Given the description of an element on the screen output the (x, y) to click on. 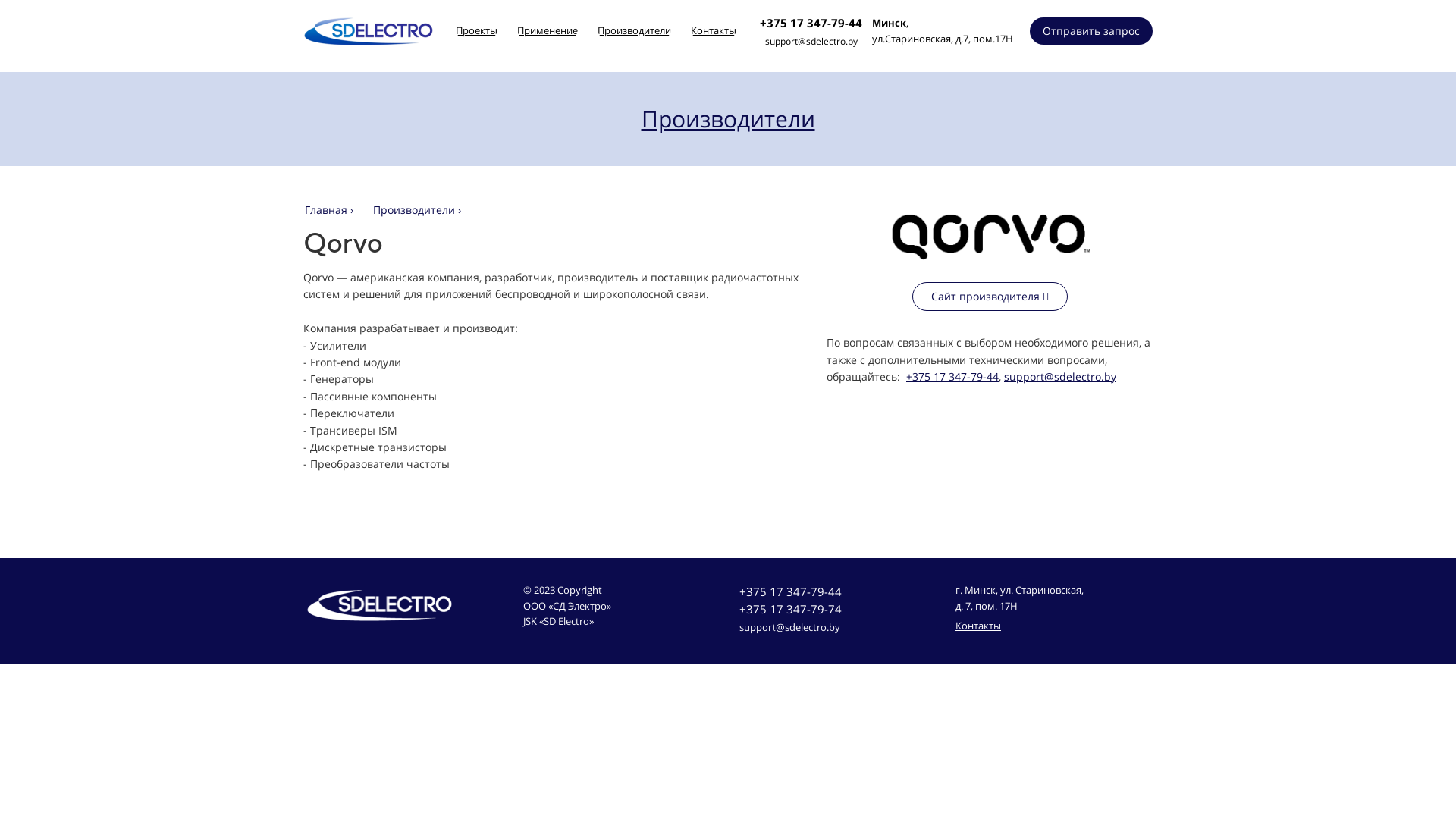
support@sdelectro.by Element type: text (1060, 376)
support@sdelectro.by Element type: text (811, 40)
+375 17 347-79-44 Element type: text (794, 591)
+375 17 347-79-44 Element type: text (952, 376)
+375 17 347-79-74 Element type: text (794, 609)
+375 17 347-79-44 Element type: text (811, 23)
support@sdelectro.by Element type: text (794, 627)
